Given the description of an element on the screen output the (x, y) to click on. 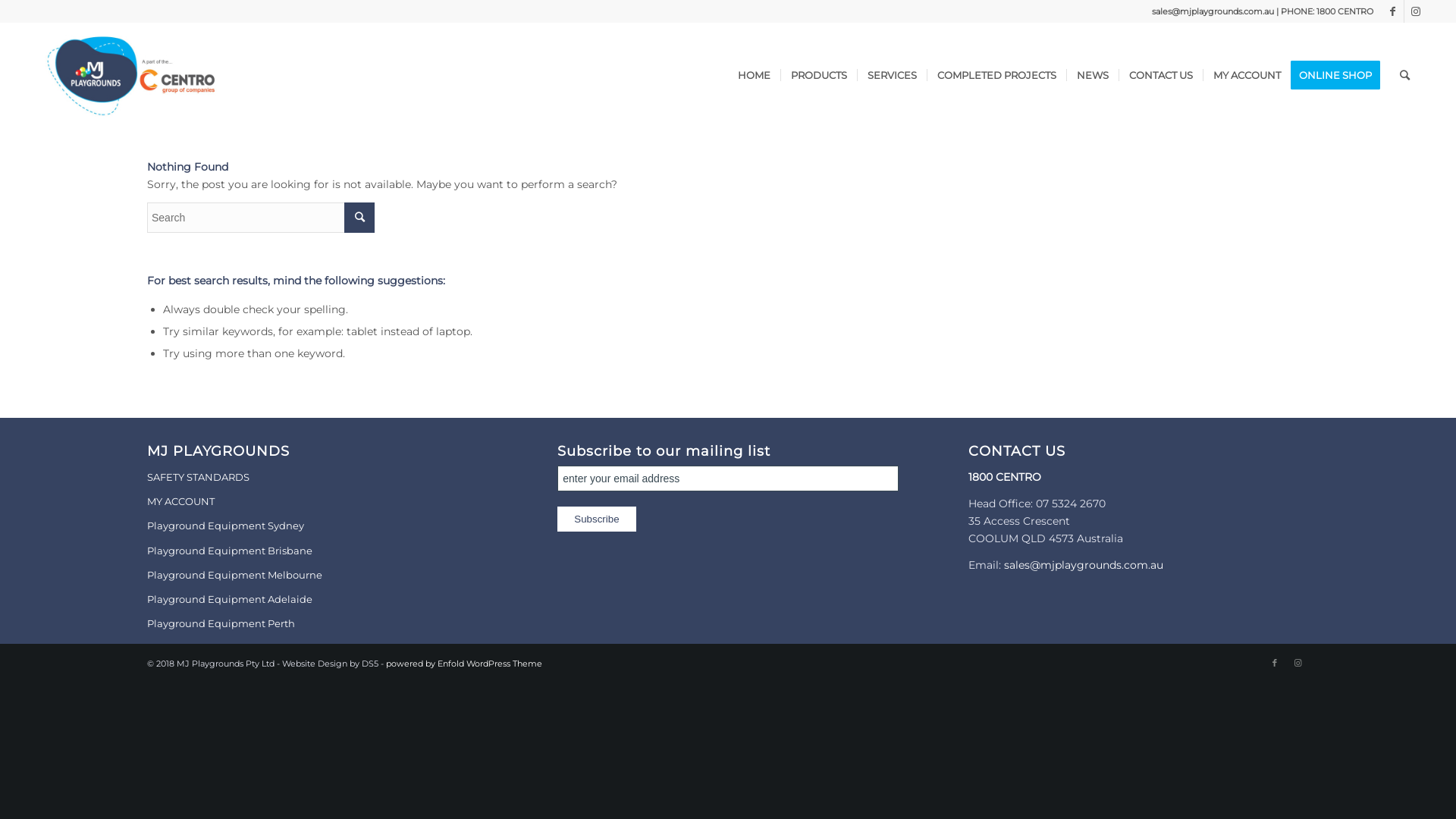
SAFETY STANDARDS Element type: text (317, 477)
Playground Equipment Perth Element type: text (317, 623)
Playground Equipment Sydney Element type: text (317, 526)
Playground Equipment Melbourne Element type: text (317, 575)
CONTACT US Element type: text (1160, 74)
COMPLETED PROJECTS Element type: text (996, 74)
HOME Element type: text (754, 74)
Instagram Element type: hover (1415, 11)
Facebook Element type: hover (1392, 11)
MY ACCOUNT Element type: text (1246, 74)
powered by Enfold WordPress Theme Element type: text (463, 663)
Instagram Element type: hover (1297, 662)
Playground Equipment Adelaide Element type: text (317, 599)
Facebook Element type: hover (1274, 662)
sales@mjplaygrounds.com.au Element type: text (1083, 564)
ONLINE SHOP Element type: text (1340, 74)
Subscribe Element type: text (596, 518)
MY ACCOUNT Element type: text (317, 501)
NEWS Element type: text (1092, 74)
SERVICES Element type: text (891, 74)
Playground Equipment Brisbane Element type: text (317, 550)
PRODUCTS Element type: text (818, 74)
